Given the description of an element on the screen output the (x, y) to click on. 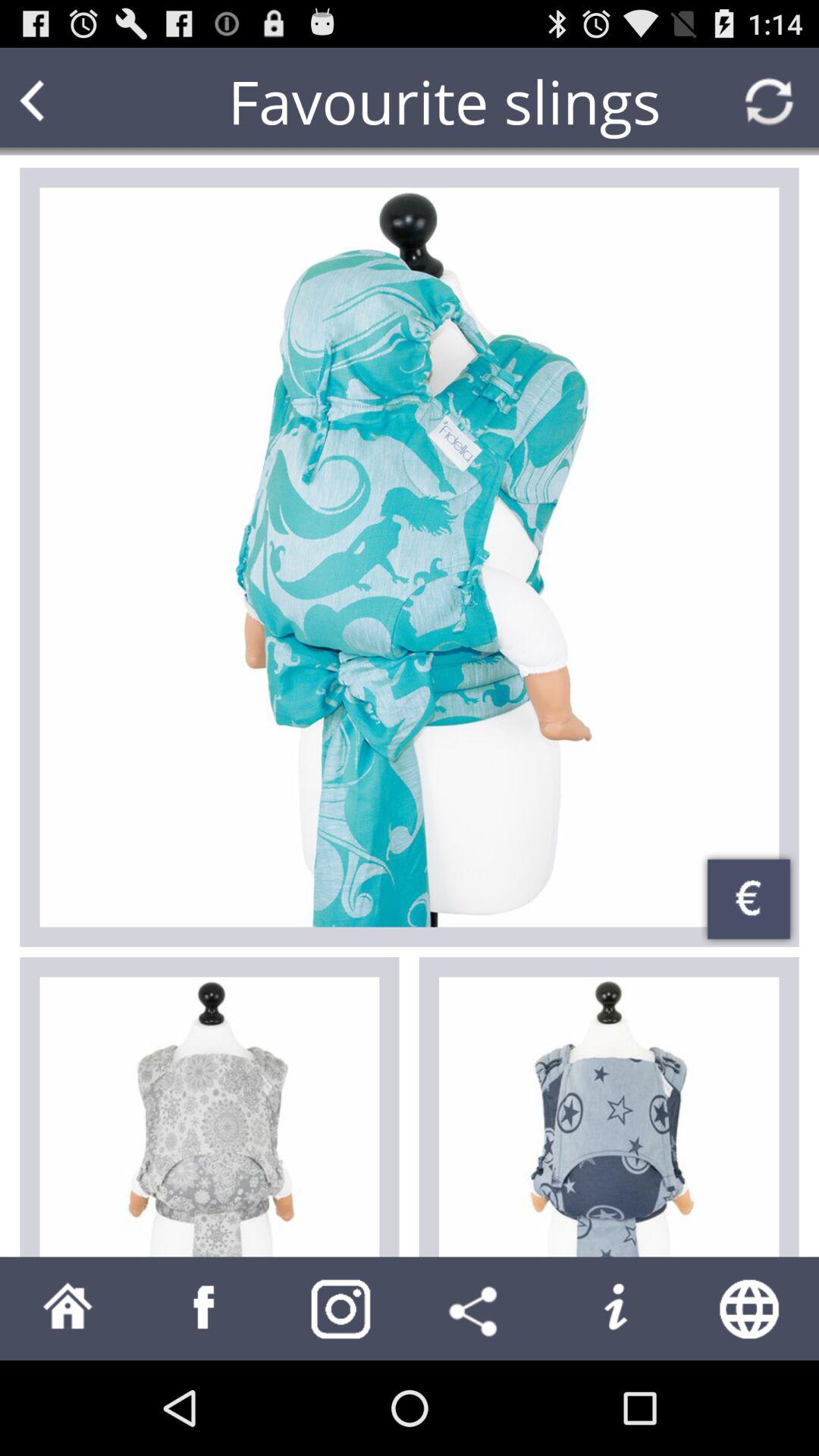
click icon to the left of the favourite slings item (61, 101)
